Given the description of an element on the screen output the (x, y) to click on. 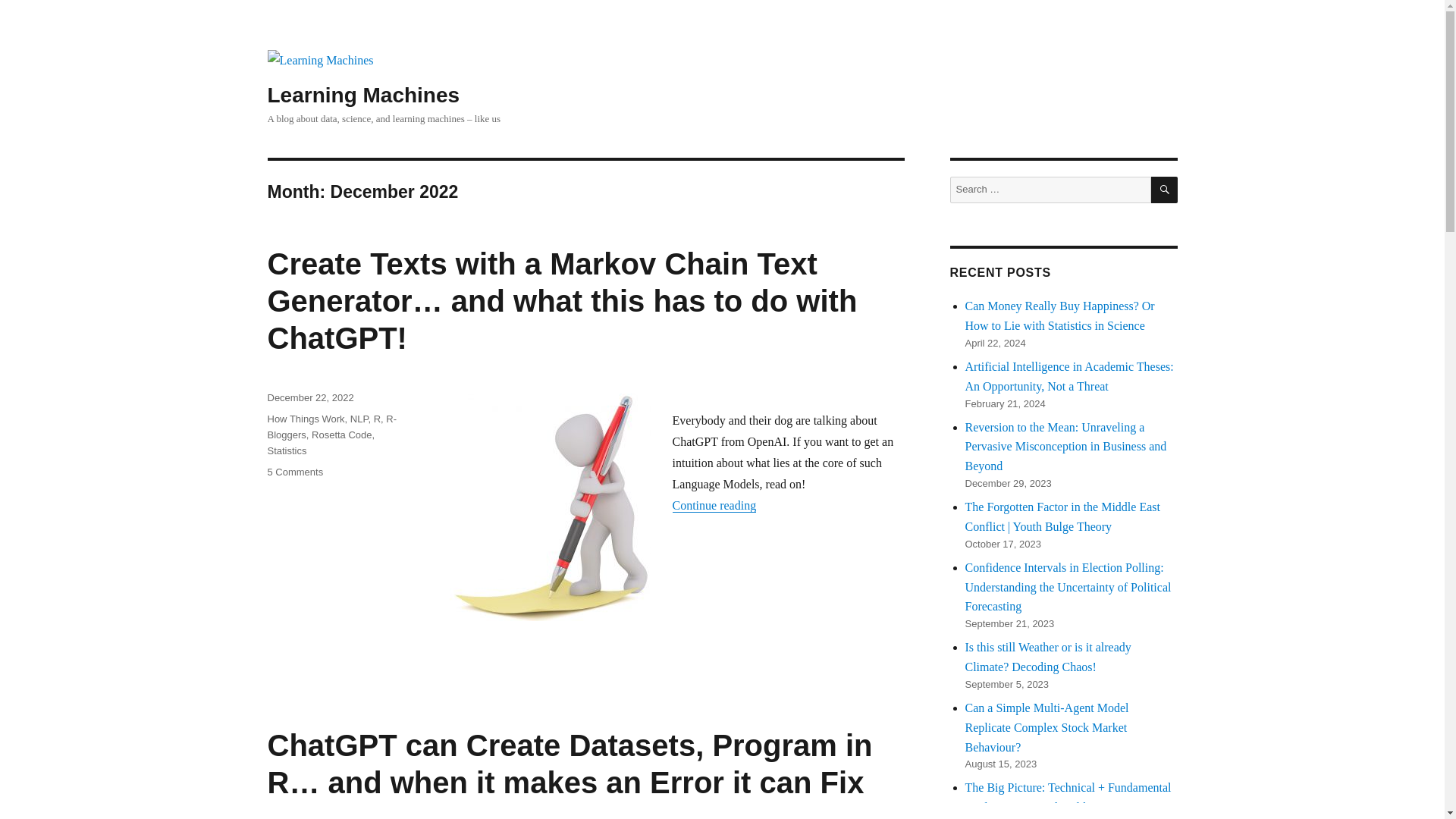
SEARCH (1164, 189)
Statistics (285, 450)
NLP (359, 419)
R-Bloggers (331, 426)
December 22, 2022 (309, 397)
Rosetta Code (341, 434)
Learning Machines (363, 95)
